Given the description of an element on the screen output the (x, y) to click on. 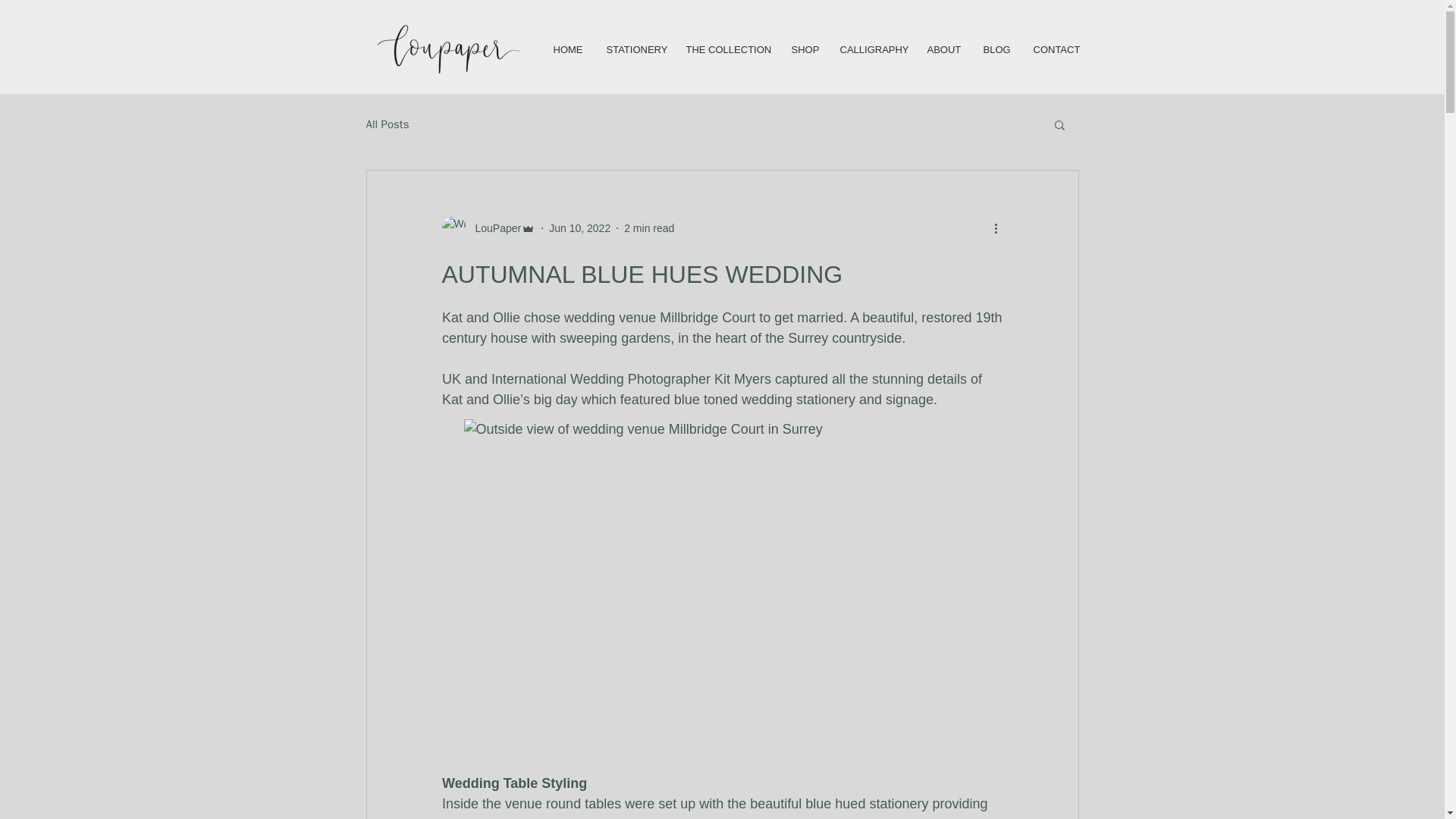
CONTACT (1056, 49)
LouPaper (488, 228)
LouPaper (493, 227)
BLOG (997, 49)
CALLIGRAPHY (871, 49)
ABOUT (943, 49)
All Posts (387, 124)
STATIONERY (634, 49)
HOME (567, 49)
SHOP (803, 49)
2 min read (649, 227)
Jun 10, 2022 (579, 227)
THE COLLECTION (727, 49)
